Given the description of an element on the screen output the (x, y) to click on. 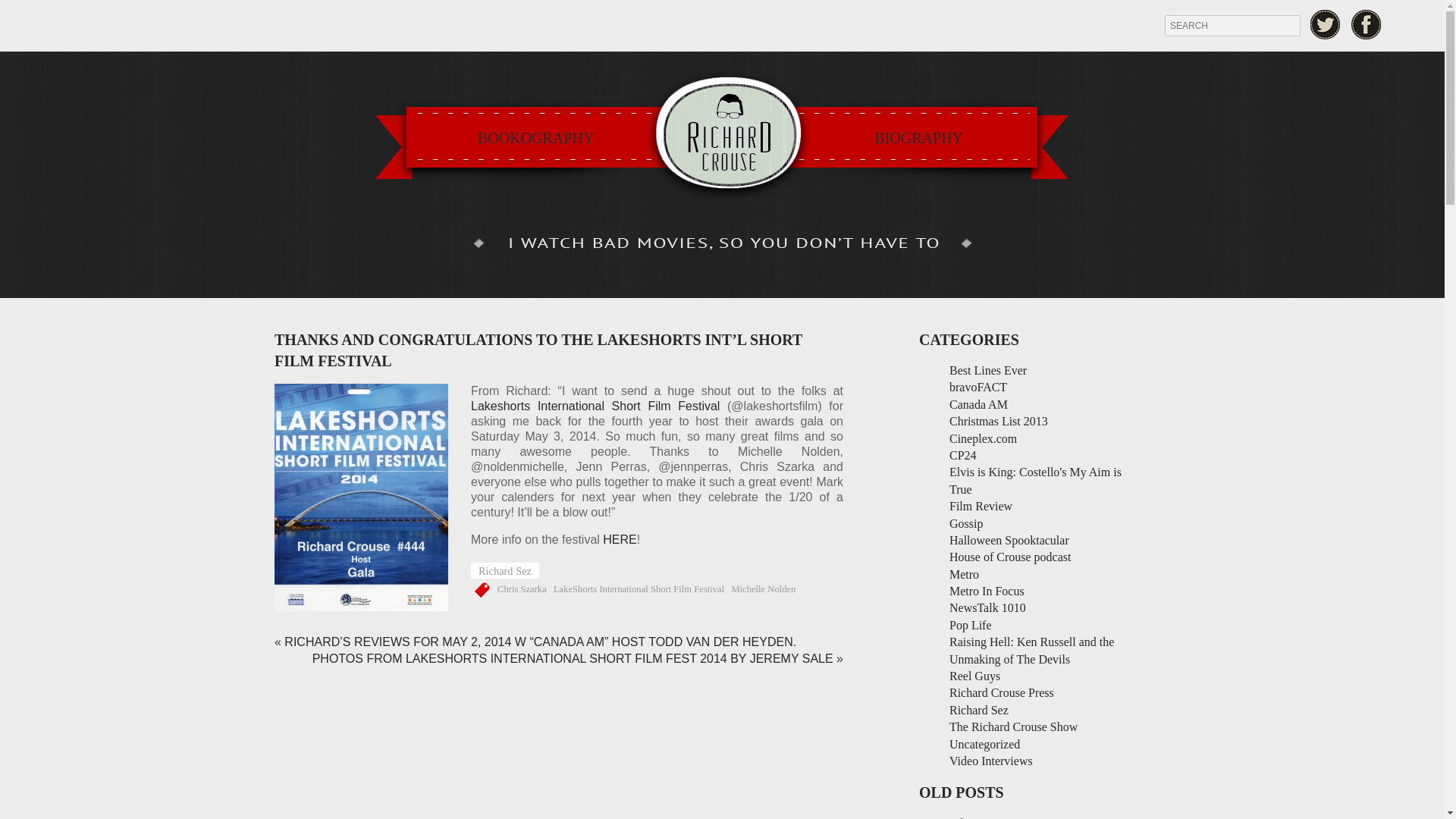
Metro In Focus (987, 590)
Twitter (1324, 24)
Pop Life (970, 625)
Christmas List 2013 (998, 420)
Raising Hell: Ken Russell and the Unmaking of The Devils (1031, 650)
Richard Crouse Press (1001, 692)
Richard Crouse (721, 137)
Elvis is King: Costello's My Aim is True (1035, 480)
NewsTalk 1010 (987, 607)
Richard Sez (504, 570)
bravoFACT (978, 386)
Gossip (965, 522)
Halloween Spooktacular (1008, 540)
Best Lines Ever (987, 369)
